Given the description of an element on the screen output the (x, y) to click on. 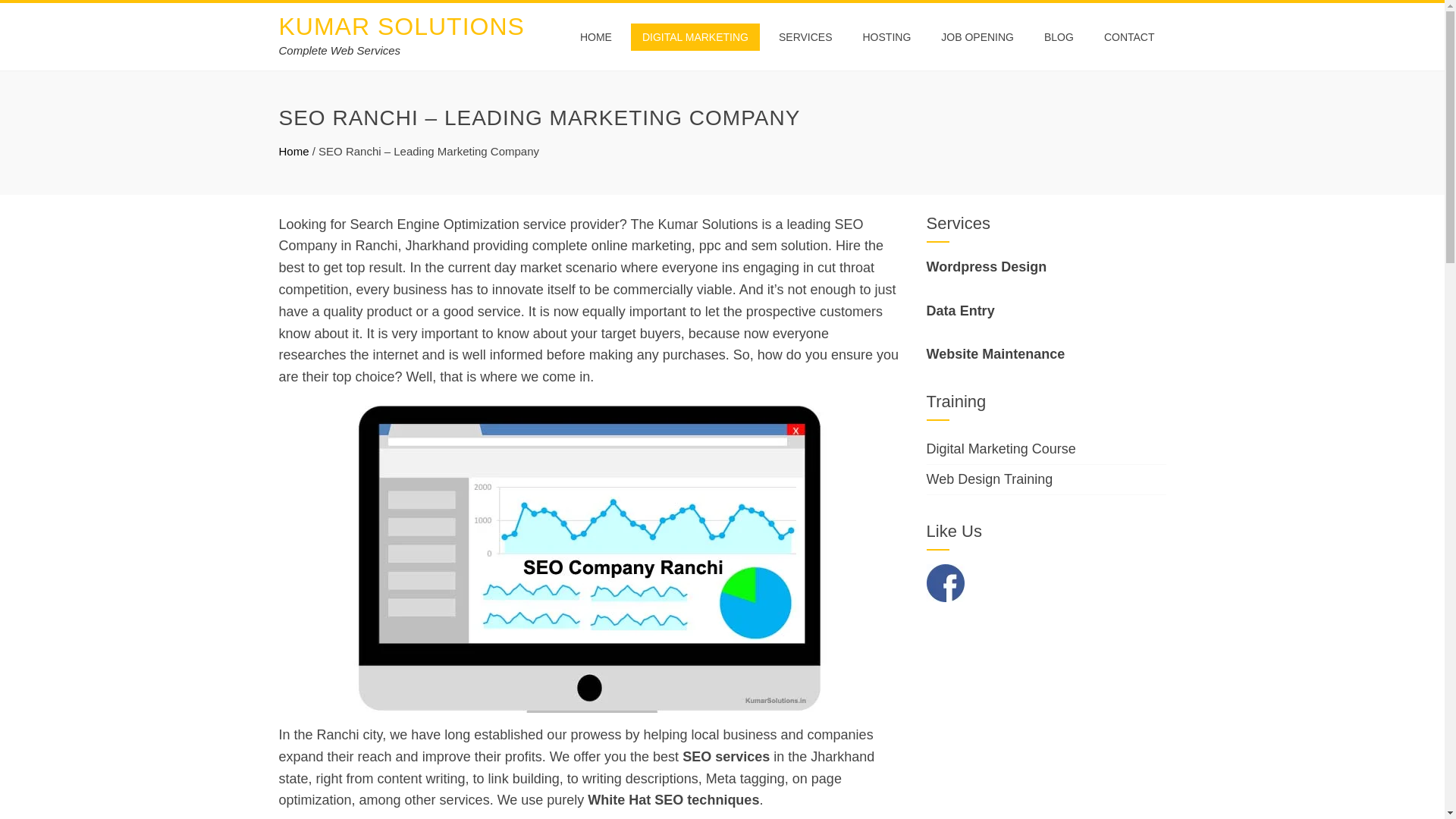
BLOG (1058, 36)
CONTACT (1129, 36)
Home (293, 151)
Wordpress Design (986, 266)
Web Design Training (989, 478)
Data Entry (960, 310)
Website Maintenance (995, 353)
JOB OPENING (977, 36)
Complete Web Services (340, 50)
DIGITAL MARKETING (695, 36)
SERVICES (805, 36)
KUMAR SOLUTIONS (401, 26)
Digital Marketing Course (1000, 448)
HOME (596, 36)
HOSTING (885, 36)
